Given the description of an element on the screen output the (x, y) to click on. 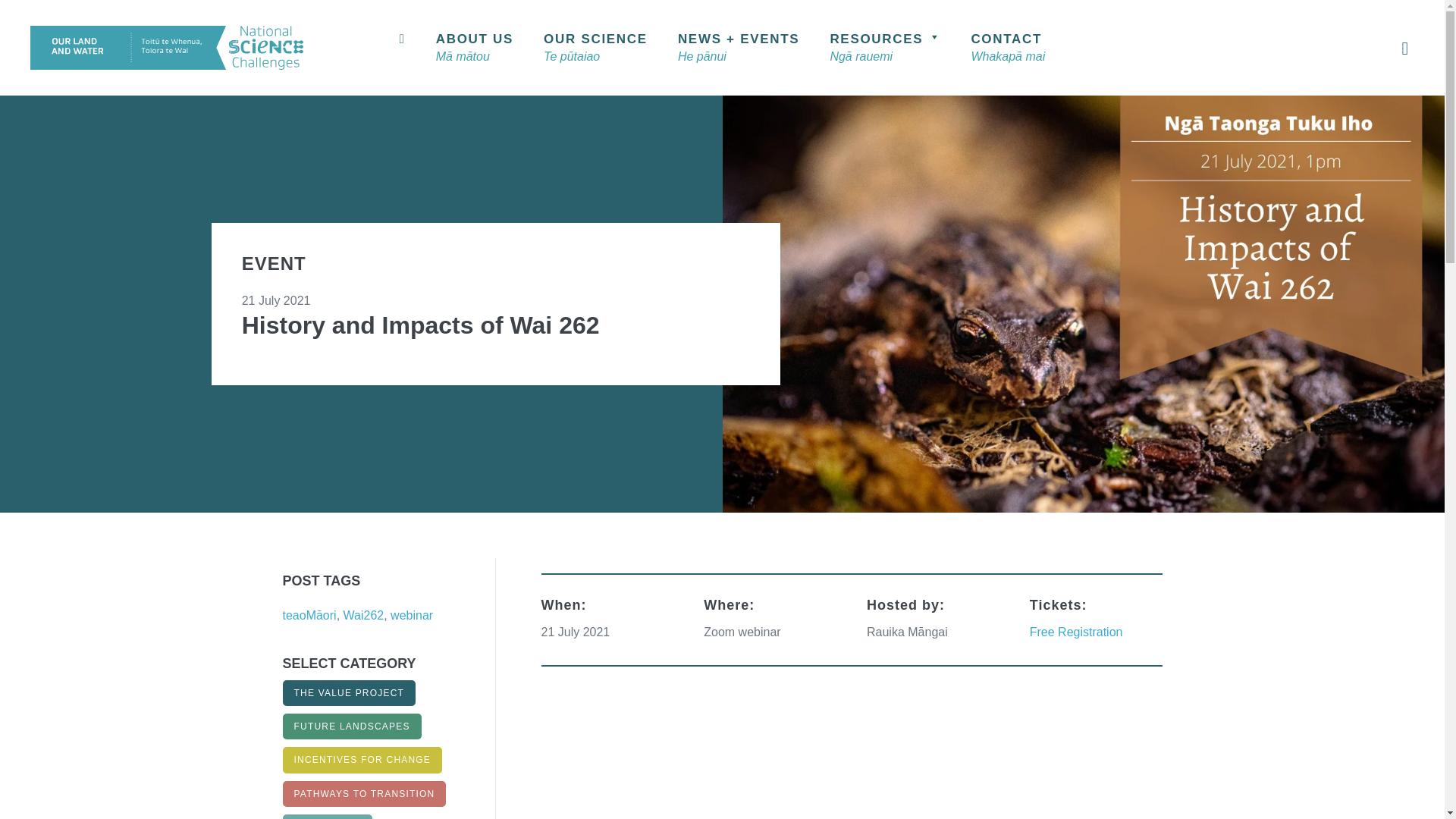
Our Land And Water Logo (166, 47)
